Given the description of an element on the screen output the (x, y) to click on. 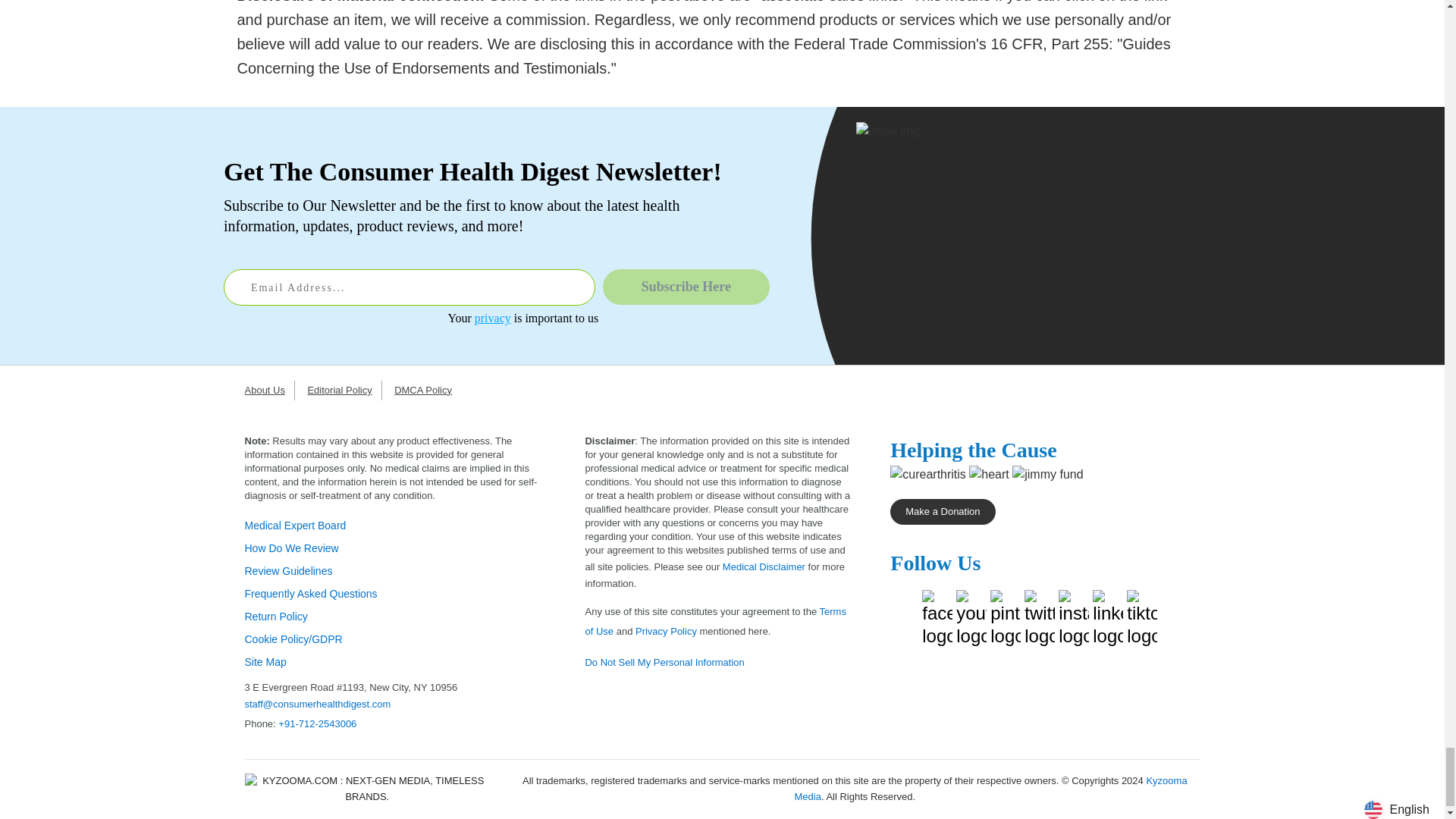
DMCA Policy (427, 389)
medical expert (295, 525)
Editorial Policy (343, 389)
how do we do reviews (290, 548)
staff consumerhealthdigest (317, 704)
cookie policy (293, 639)
frequently asked questions (310, 593)
return policy (275, 616)
About Us (269, 389)
sitemap (264, 662)
